Given the description of an element on the screen output the (x, y) to click on. 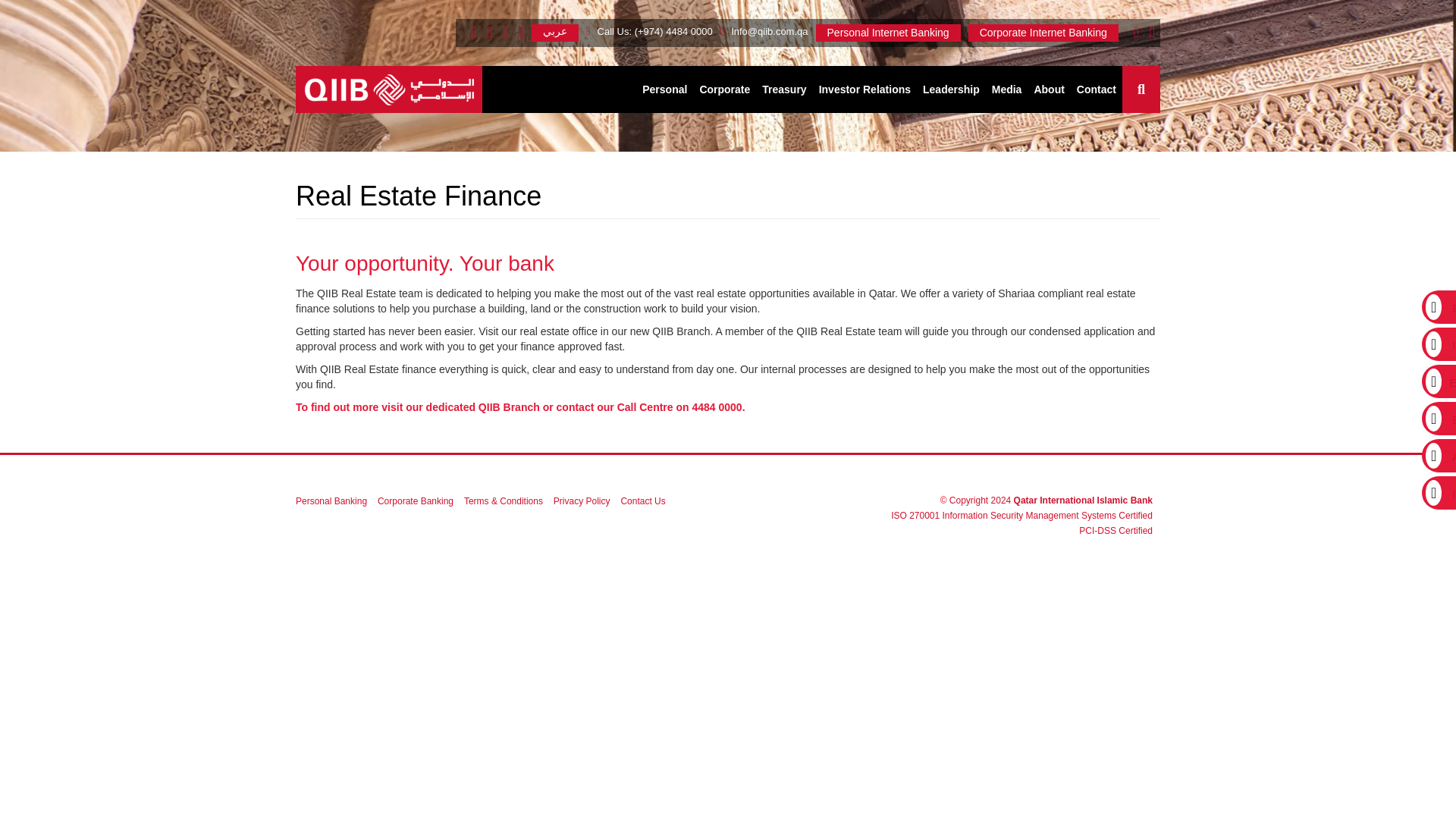
Corporate Internet Banking (1043, 32)
Youtube (503, 33)
Personal (664, 89)
Facebook (517, 33)
Instagram (471, 33)
Play Store (1147, 33)
Personal Internet Banking (887, 32)
Apple Store (1133, 33)
Twitter (487, 33)
